Given the description of an element on the screen output the (x, y) to click on. 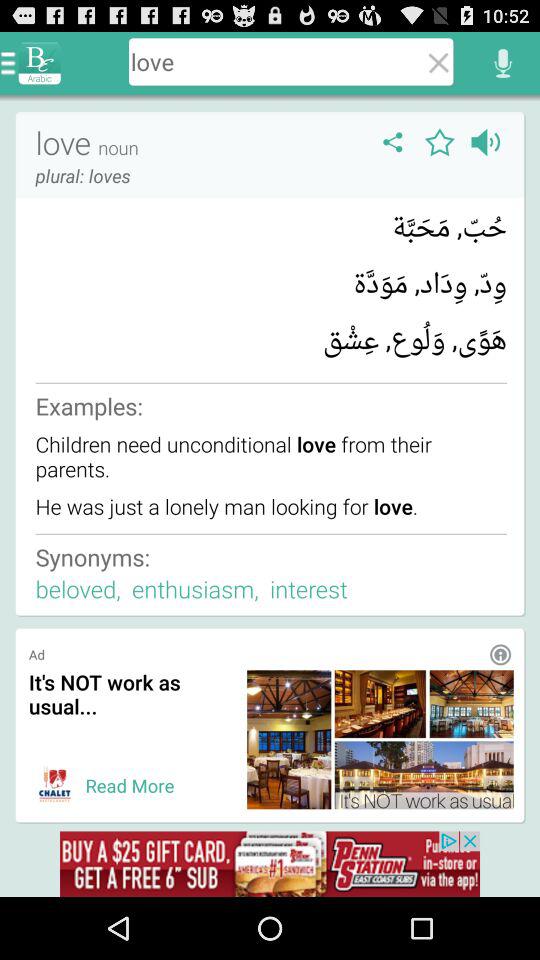
redirect to advertisement (54, 785)
